Given the description of an element on the screen output the (x, y) to click on. 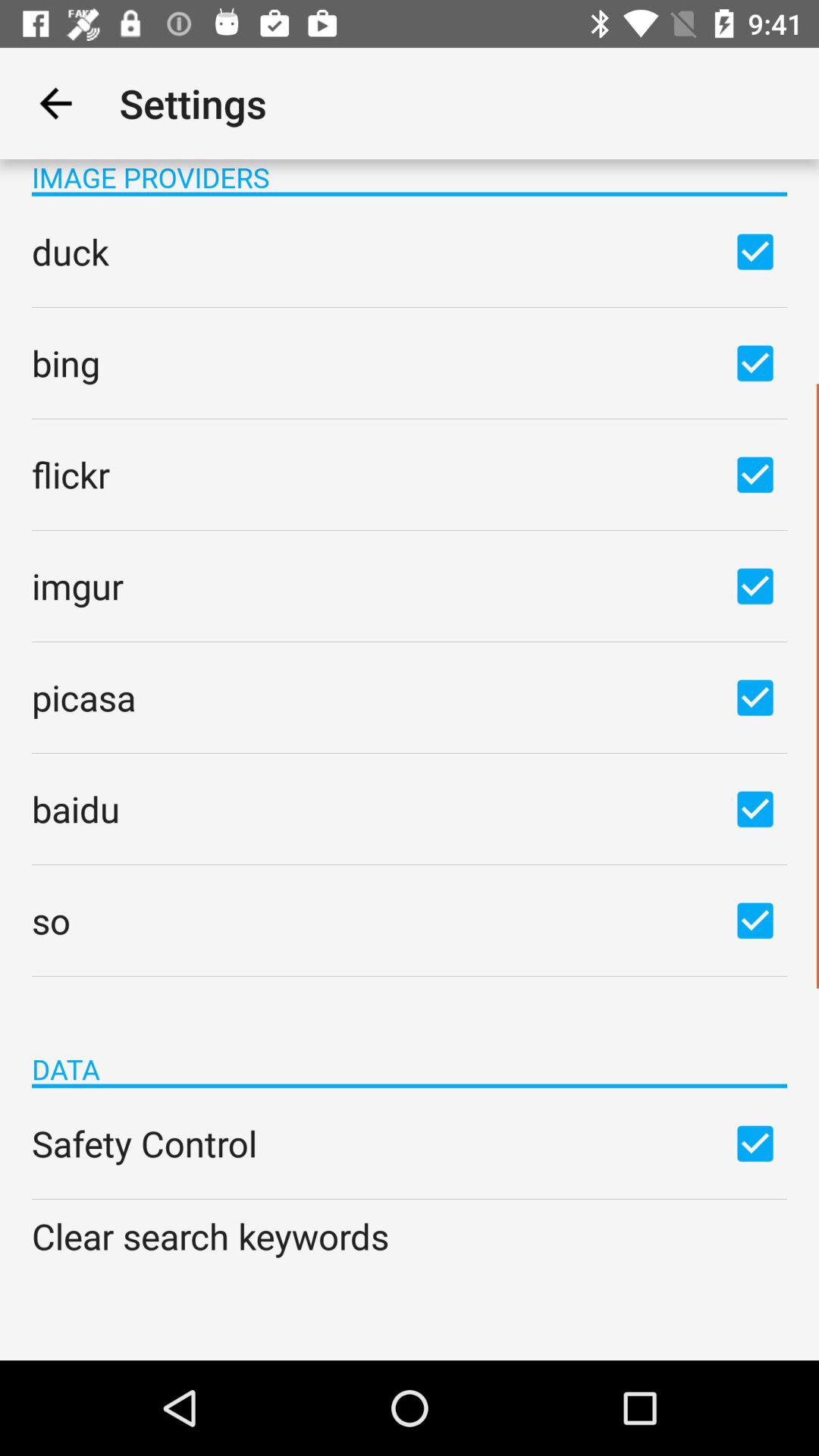
enable disable option (755, 474)
